Given the description of an element on the screen output the (x, y) to click on. 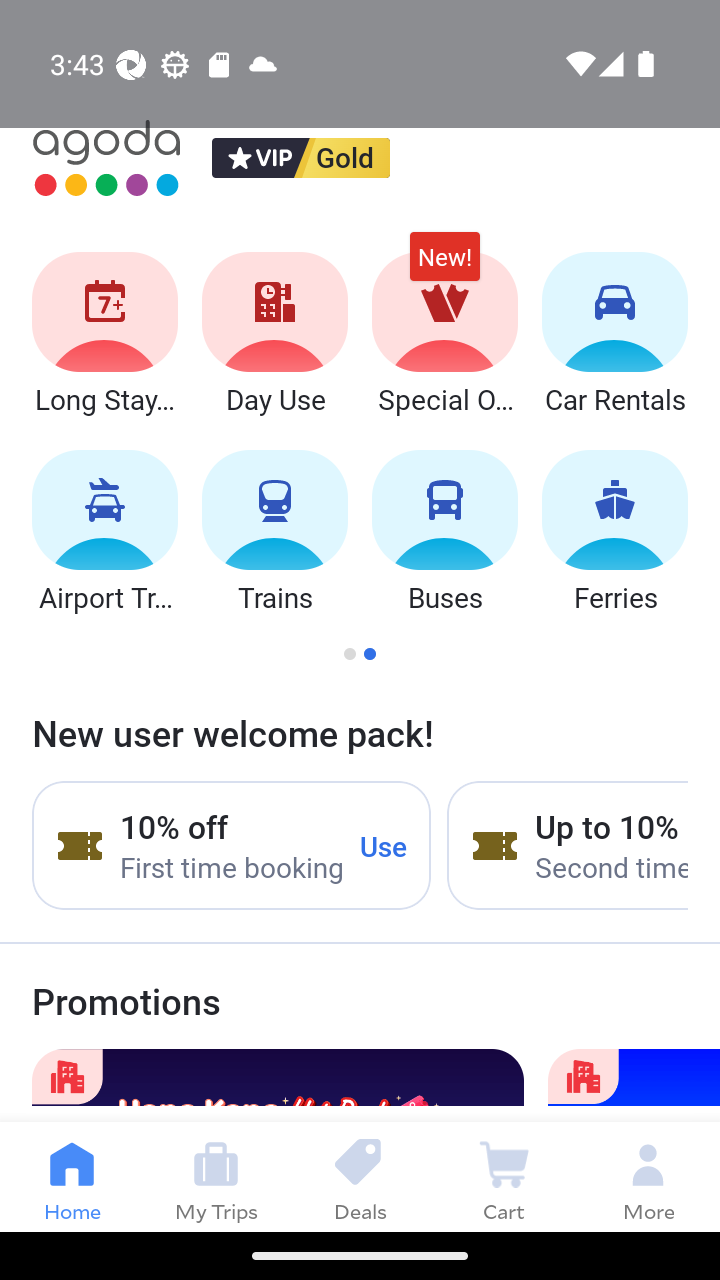
New! (444, 265)
Use (384, 845)
Home (72, 1176)
My Trips (216, 1176)
Deals (360, 1176)
Cart (504, 1176)
More (648, 1176)
